Given the description of an element on the screen output the (x, y) to click on. 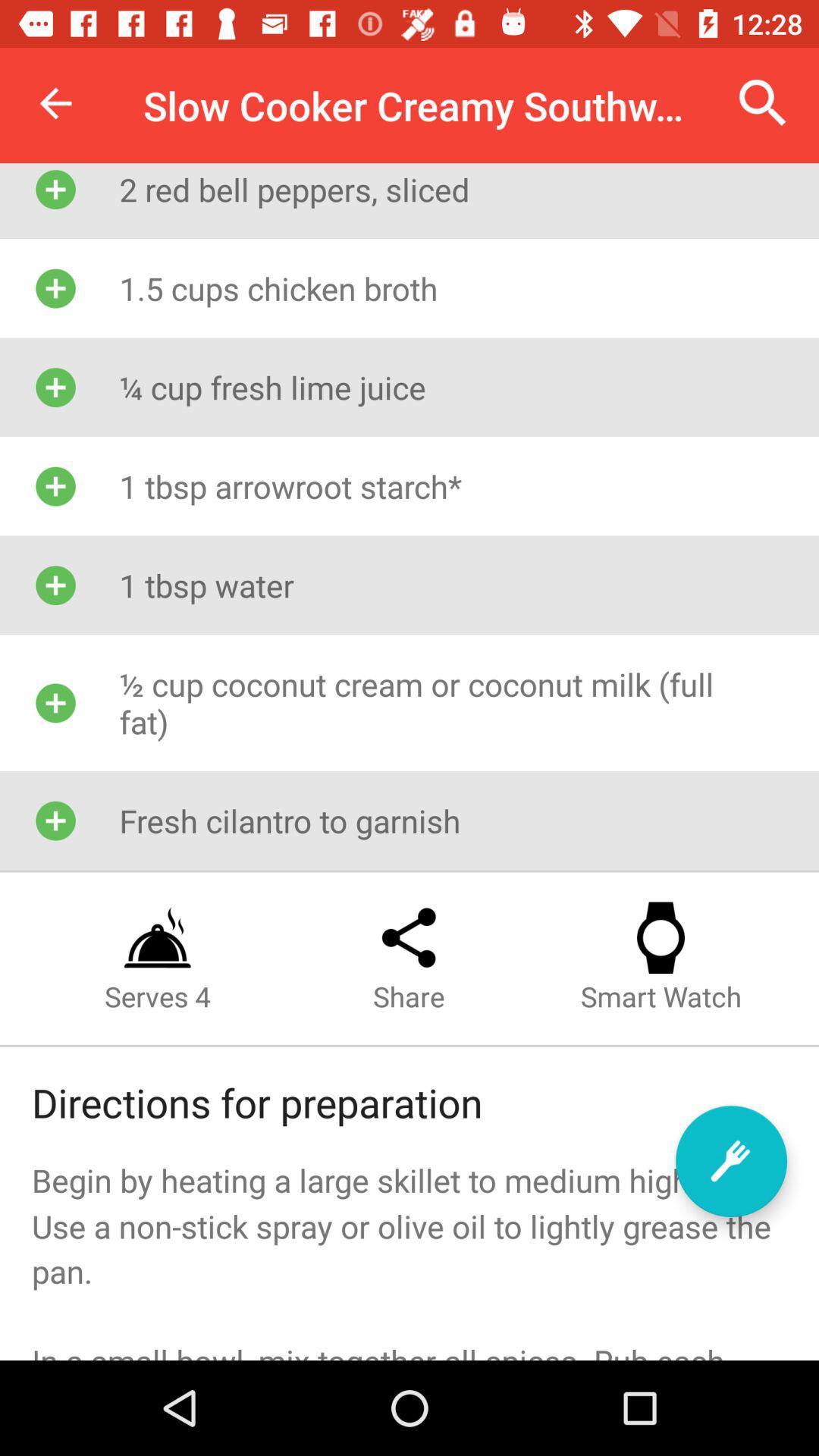
press the item next to slow cooker creamy (763, 103)
